Given the description of an element on the screen output the (x, y) to click on. 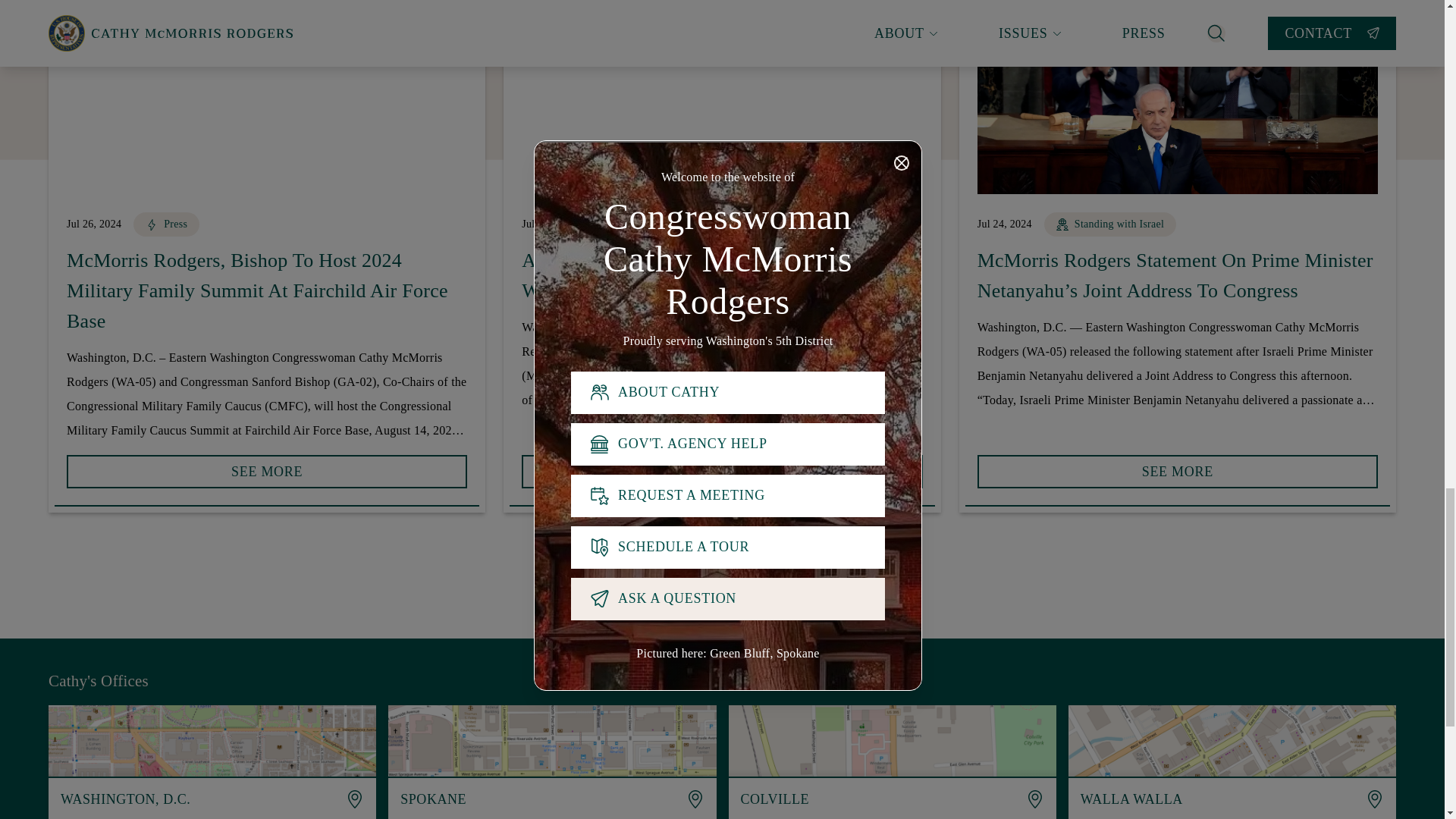
SEE MORE (721, 465)
SEE MORE (266, 465)
Press (166, 226)
SEE MORE (266, 471)
Standing with Israel (654, 226)
